Given the description of an element on the screen output the (x, y) to click on. 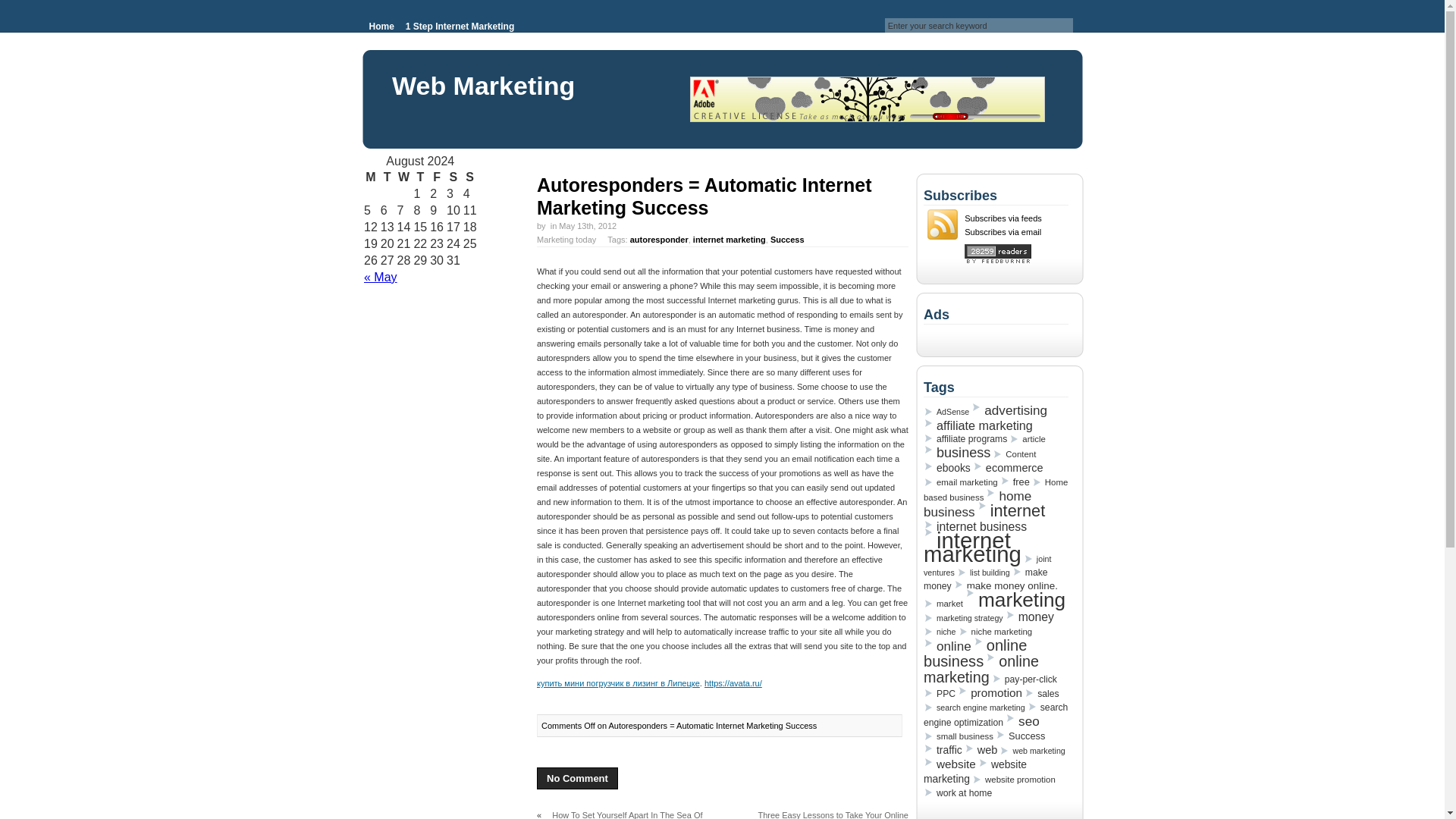
make money (985, 578)
money (1030, 616)
9 topics (965, 438)
How To Set Yourself Apart In The Sea Of Online Marketers (620, 812)
7 topics (946, 411)
marketing (1015, 599)
affiliate marketing (977, 425)
Web Marketing (483, 85)
internet marketing (729, 239)
23 topics (956, 452)
list building (983, 572)
8 topics (960, 481)
niche (939, 631)
internet business (974, 526)
article (1027, 439)
